Given the description of an element on the screen output the (x, y) to click on. 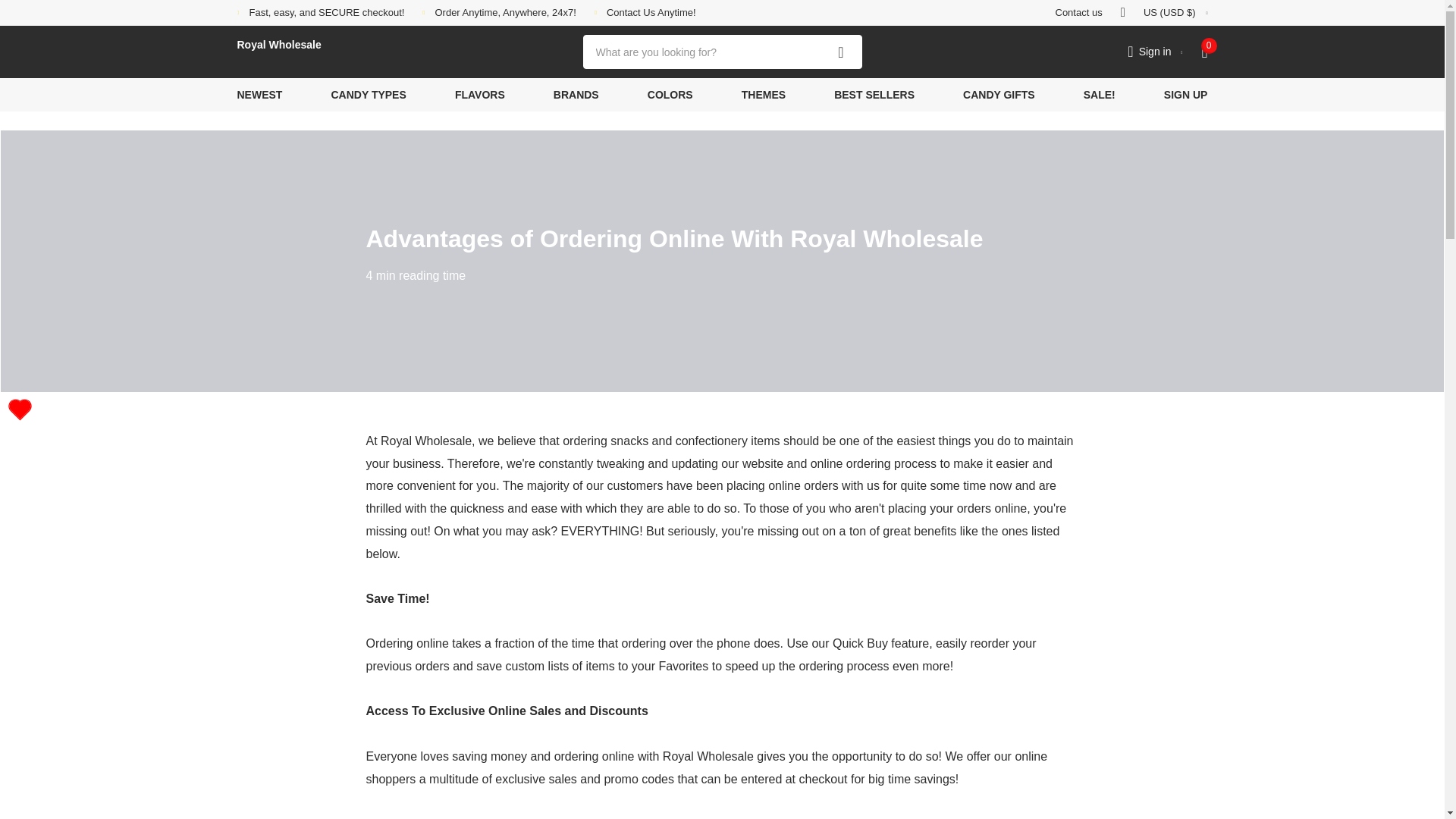
THEMES (763, 94)
CANDY GIFTS (998, 94)
0 (1204, 51)
COLORS (670, 94)
SALE! (1099, 94)
Zoeken (841, 51)
SIGN UP (1185, 94)
Sign in (1154, 51)
BRANDS (575, 94)
NEWEST (258, 94)
Wishlist (19, 409)
BEST SELLERS (874, 94)
FLAVORS (479, 94)
Contact us (1078, 12)
CANDY TYPES (368, 94)
